Given the description of an element on the screen output the (x, y) to click on. 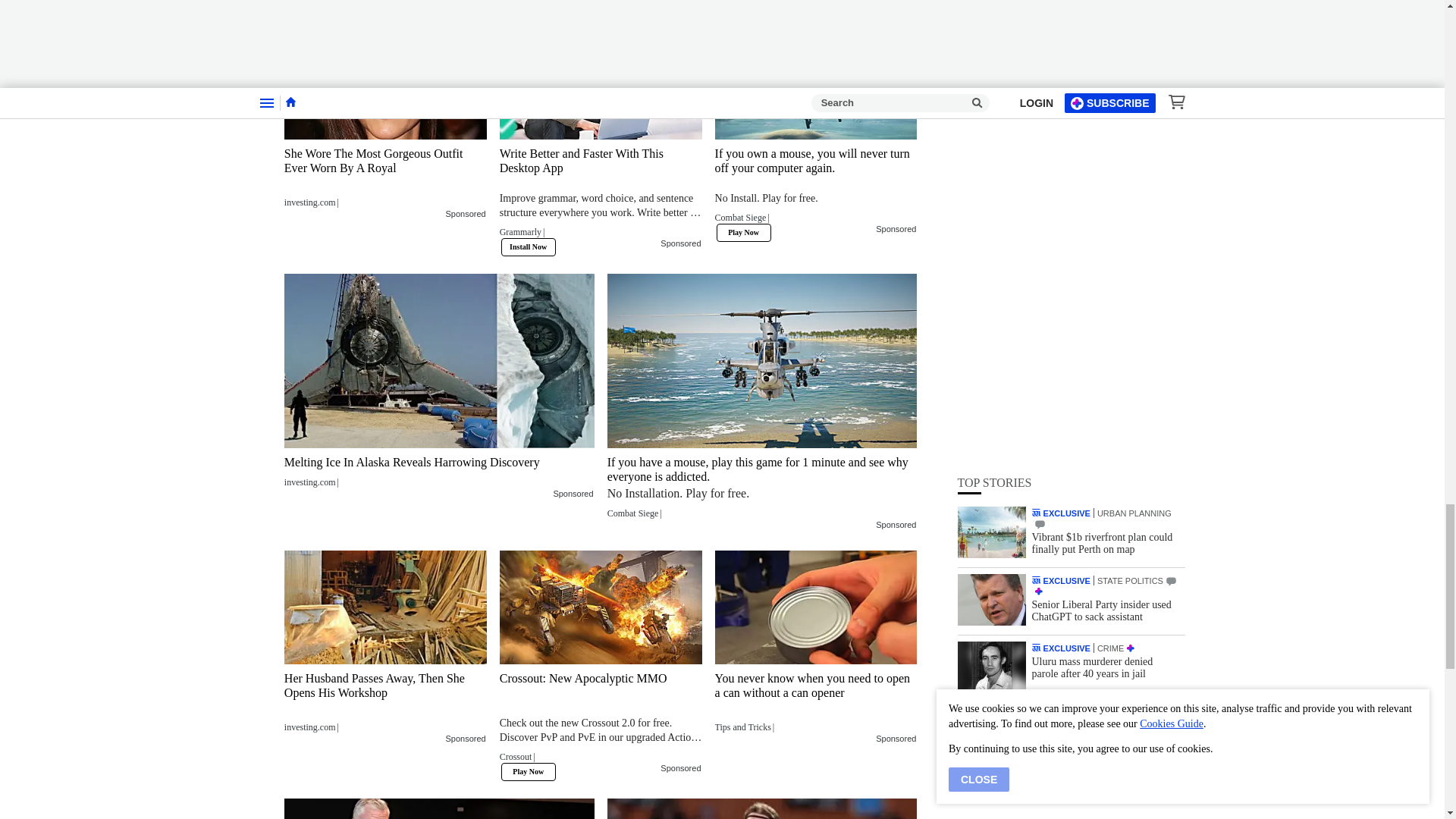
She Wore The Most Gorgeous Outfit Ever Worn By A Royal (384, 177)
She Wore The Most Gorgeous Outfit Ever Worn By A Royal (384, 82)
Write Better and Faster With This Desktop App (600, 82)
Write Better and Faster With This Desktop App (600, 197)
